Given the description of an element on the screen output the (x, y) to click on. 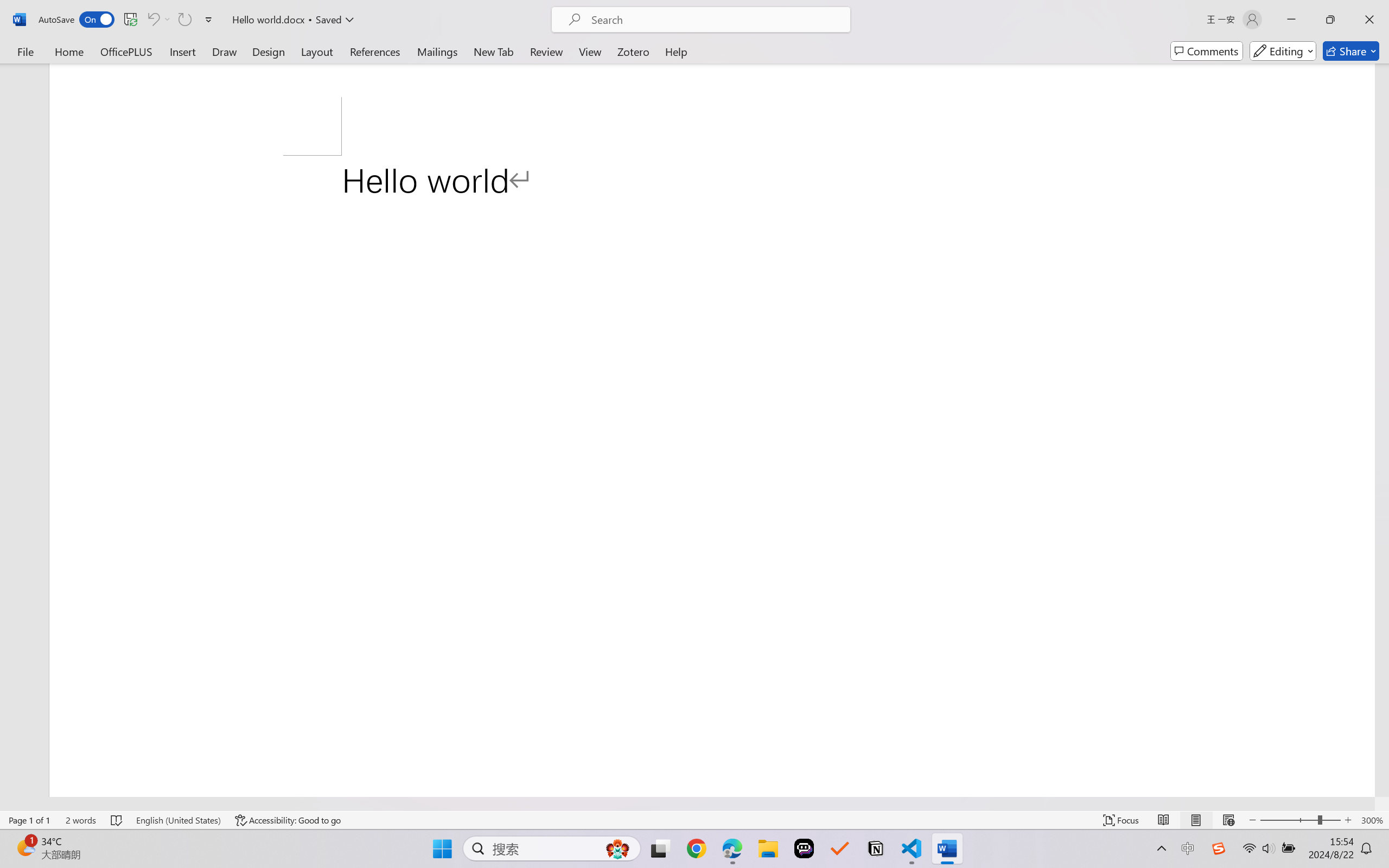
Can't Undo (152, 19)
More Options (167, 19)
Class: Image (1218, 847)
Language English (United States) (178, 819)
AutoSave (76, 19)
Insert (182, 51)
Can't Undo (158, 19)
Focus  (1121, 819)
Zoom In (1348, 819)
Web Layout (1228, 819)
Can't Repeat (184, 19)
Help (675, 51)
